Given the description of an element on the screen output the (x, y) to click on. 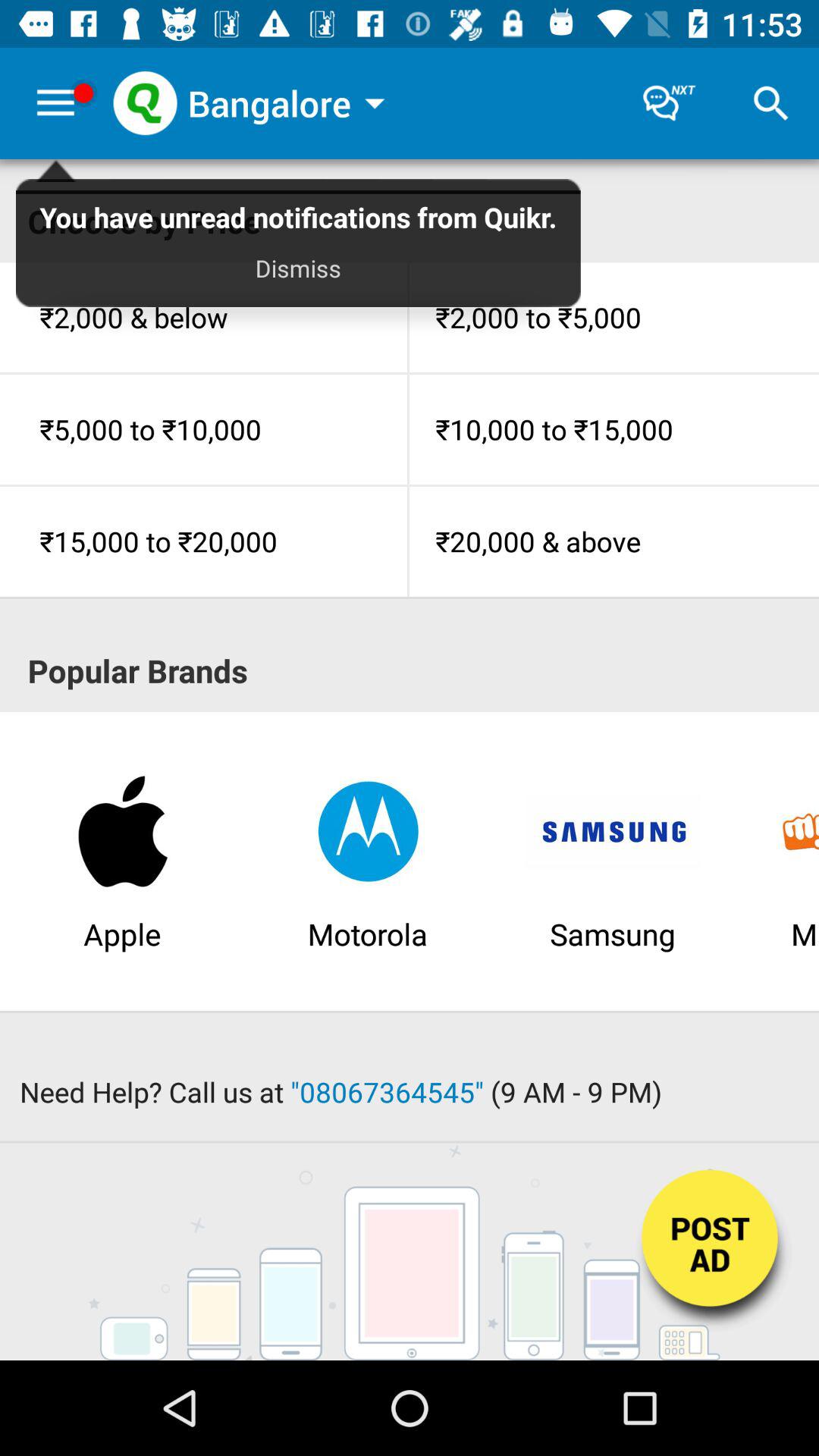
post advertisement button (711, 1252)
